Given the description of an element on the screen output the (x, y) to click on. 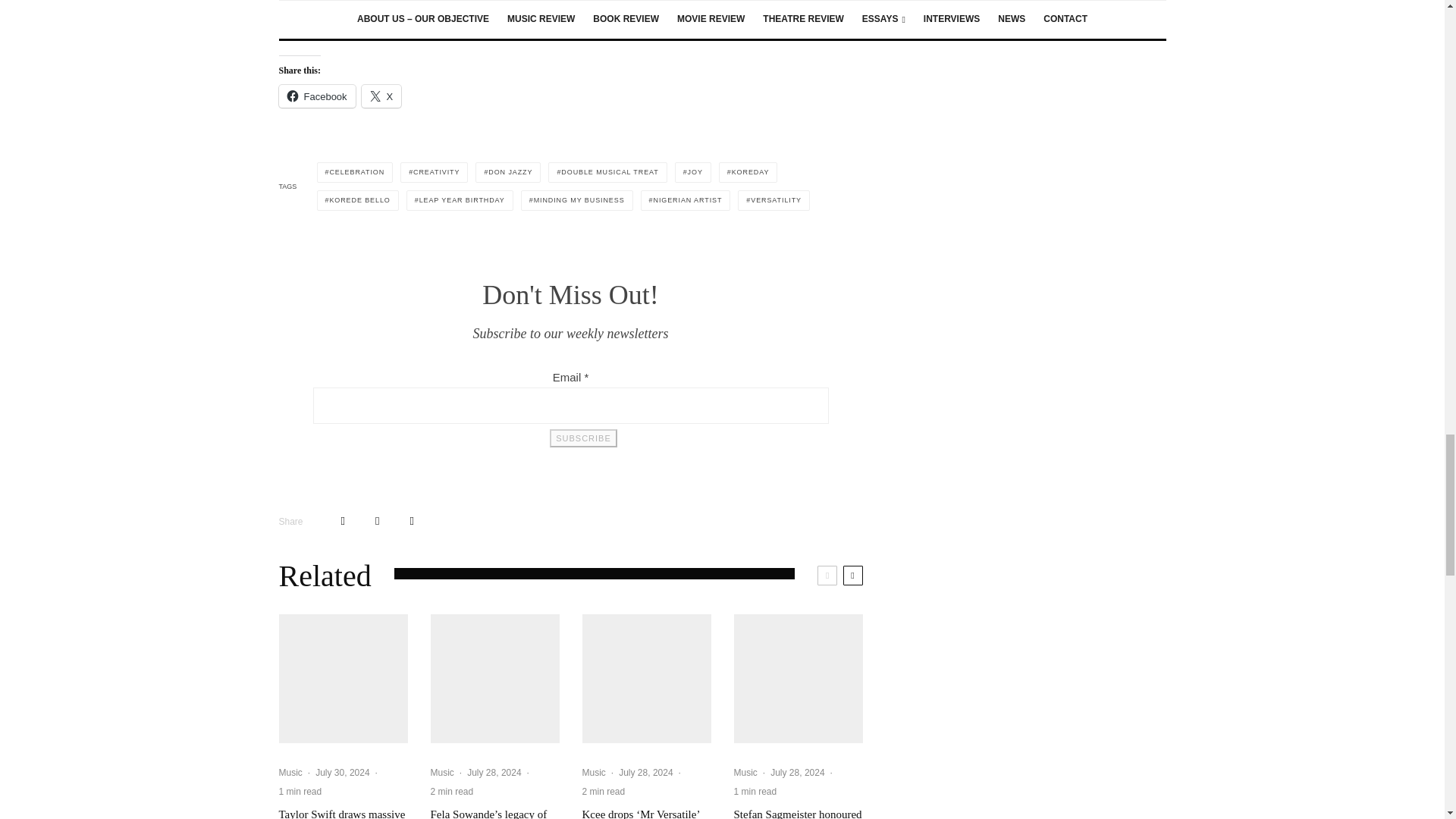
Click to share on X (381, 96)
Click to share on Facebook (317, 96)
Subscribe (582, 438)
